Given the description of an element on the screen output the (x, y) to click on. 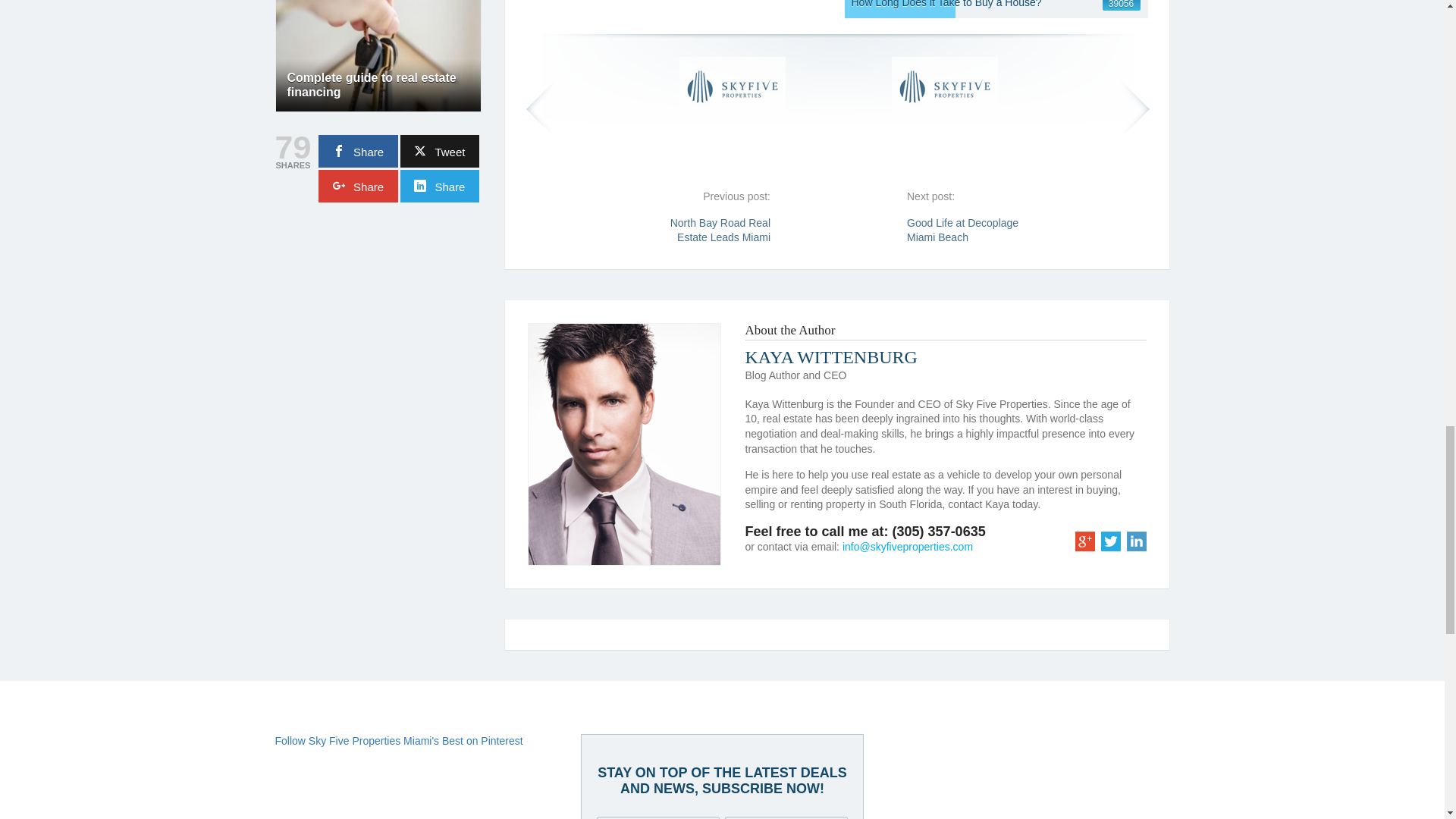
Complete guide to real estate financing (370, 85)
Share (357, 185)
Complete guide to real estate financing (378, 47)
Share (357, 151)
Tweet (439, 151)
Share (439, 185)
